Given the description of an element on the screen output the (x, y) to click on. 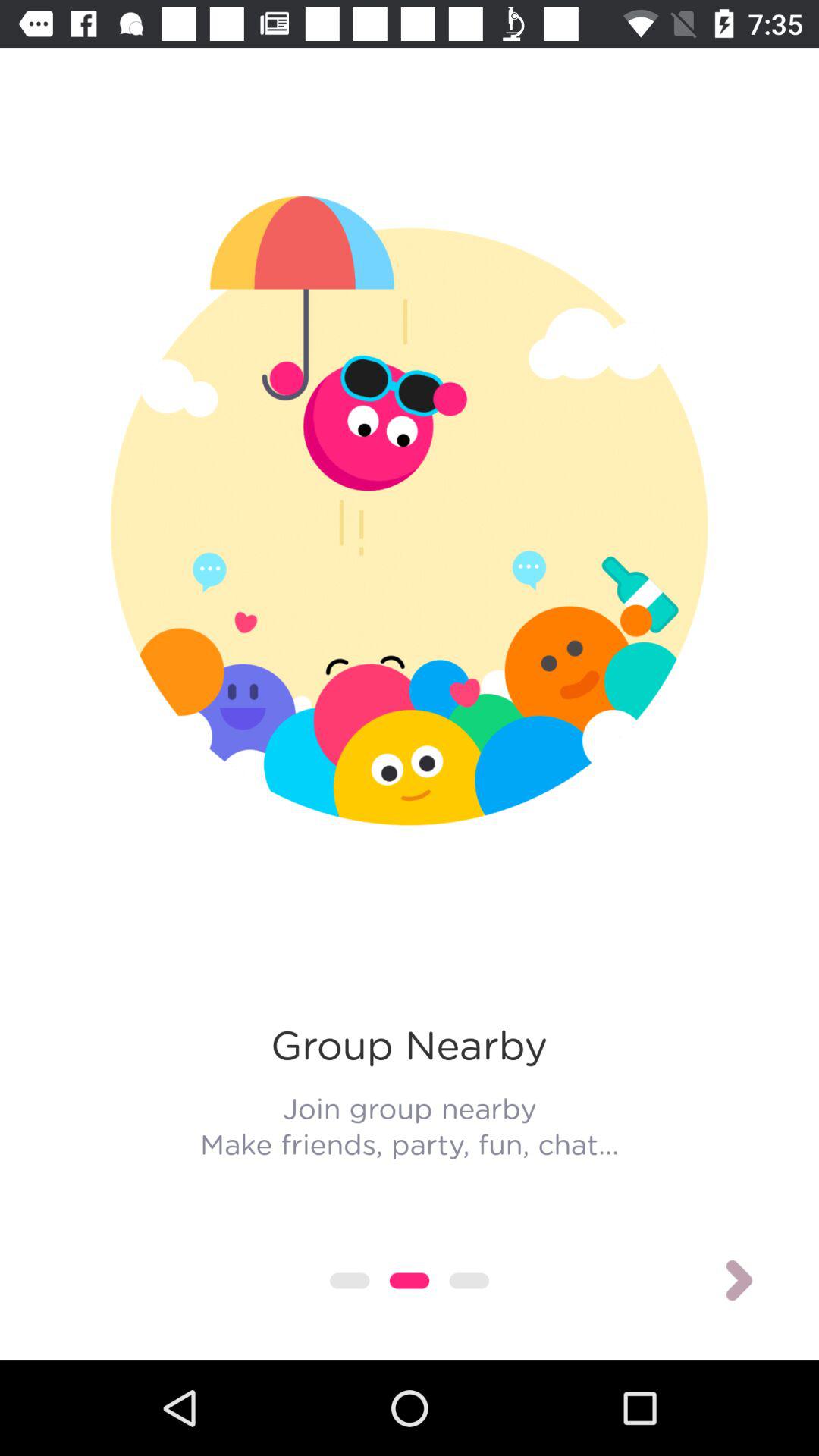
click icon at the bottom right corner (739, 1280)
